Given the description of an element on the screen output the (x, y) to click on. 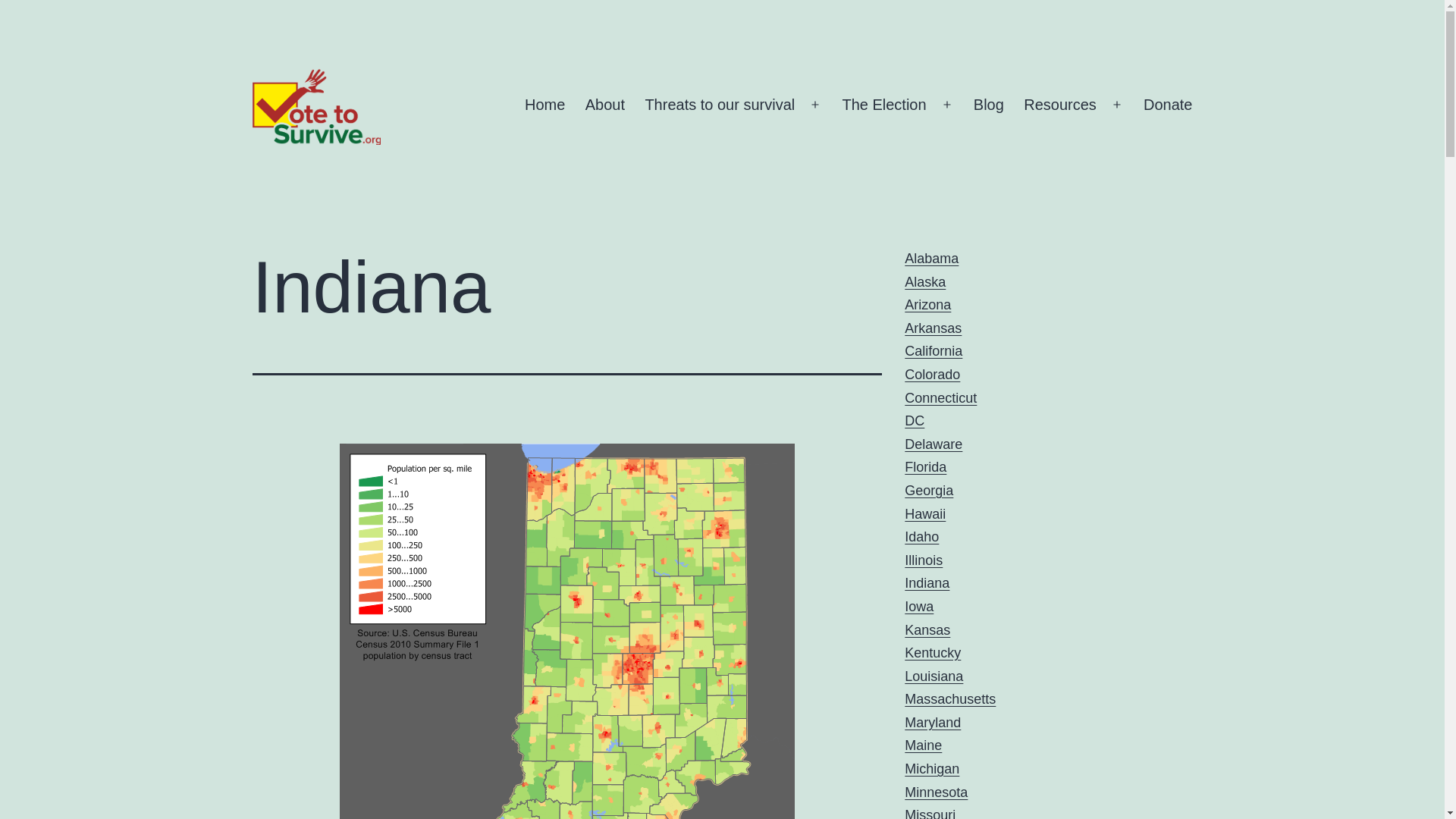
Blog (988, 105)
California (933, 350)
Connecticut (940, 397)
The Election (883, 105)
Arizona (927, 304)
Alaska (924, 281)
Colorado (931, 374)
Resources (1059, 105)
Donate (1168, 105)
Alabama (931, 258)
Arkansas (932, 328)
About (604, 105)
Home (545, 105)
Threats to our survival (719, 105)
